Given the description of an element on the screen output the (x, y) to click on. 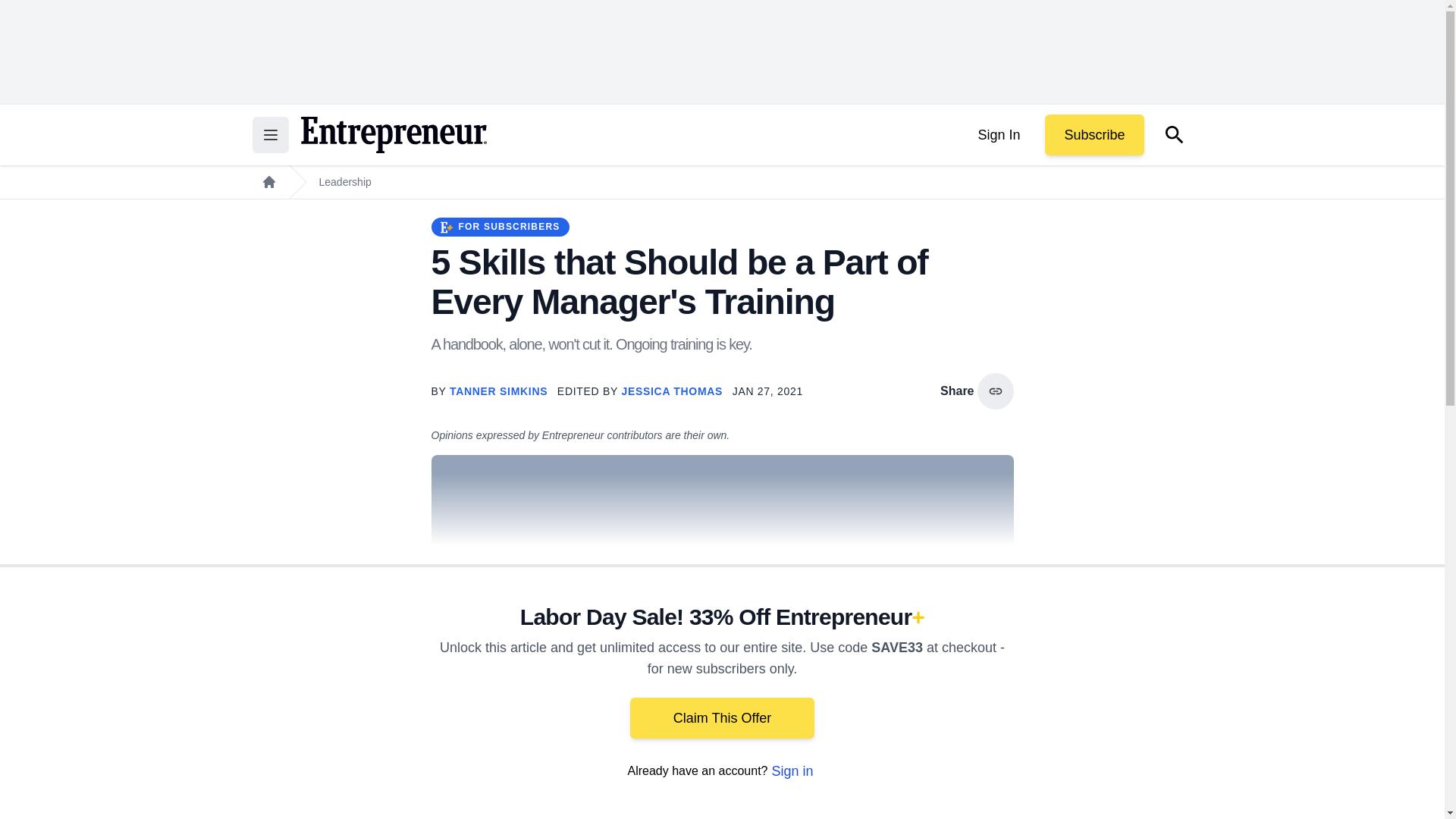
copy (994, 391)
Subscribe (1093, 134)
Sign In (998, 134)
Return to the home page (392, 135)
